Given the description of an element on the screen output the (x, y) to click on. 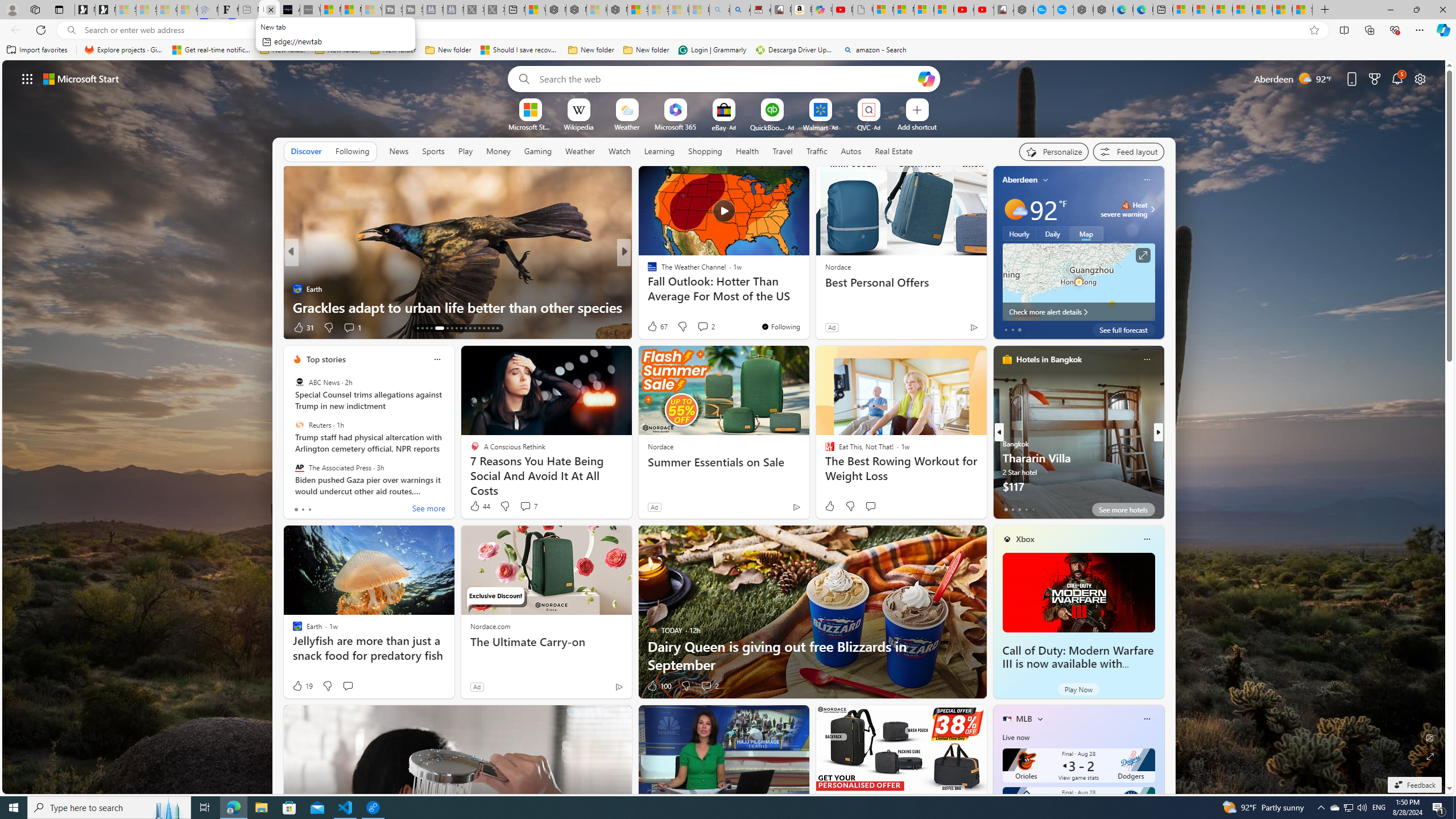
257 Like (654, 327)
Collections (1369, 29)
Day 1: Arriving in Yemen (surreal to be here) - YouTube (842, 9)
Streaming Coverage | T3 - Sleeping (392, 9)
Travel (782, 151)
See more hotels (1123, 509)
See full forecast (1123, 329)
Xbox (1025, 538)
Copilot (821, 9)
Following (352, 151)
